Given the description of an element on the screen output the (x, y) to click on. 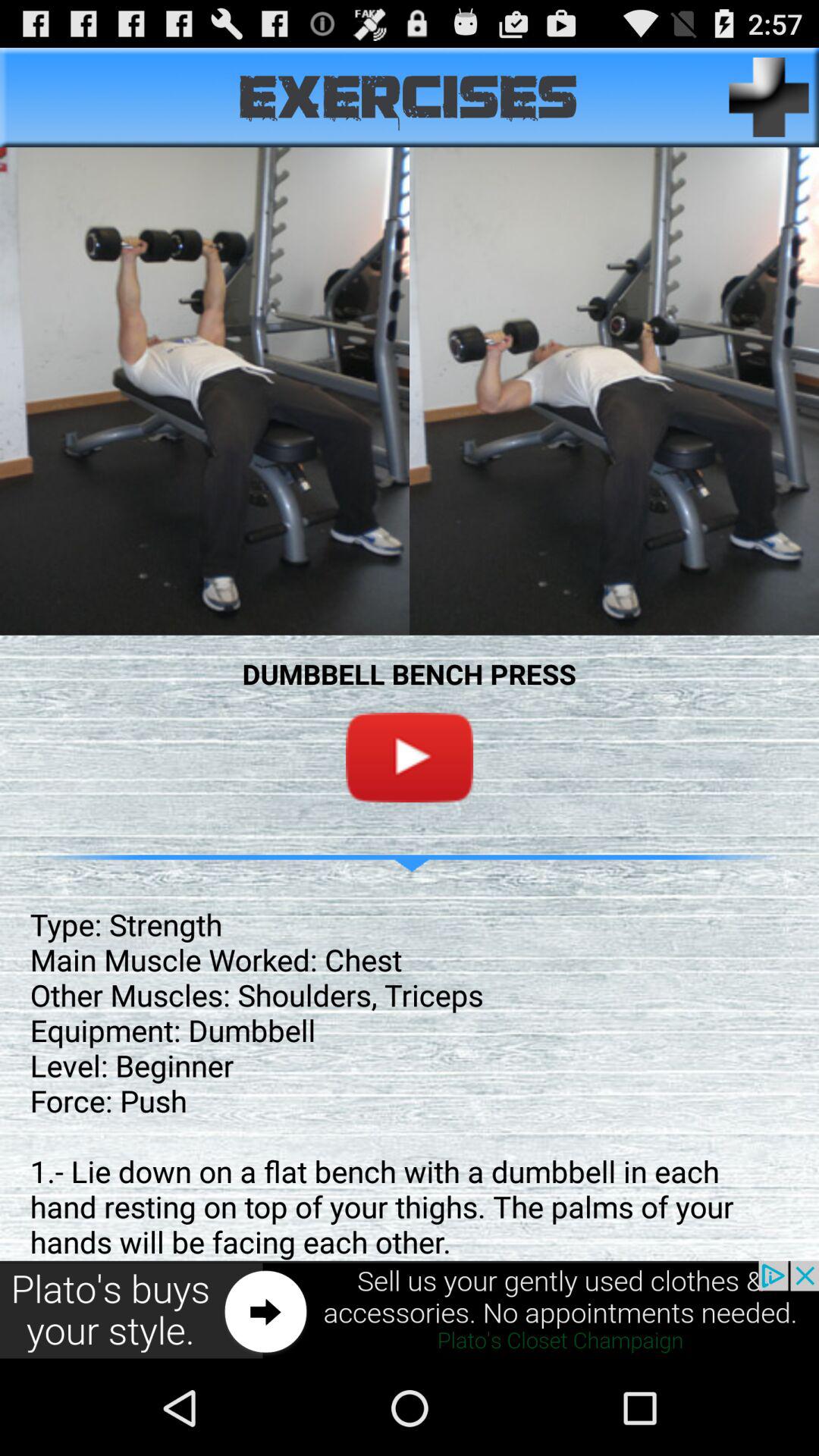
play option (409, 757)
